Given the description of an element on the screen output the (x, y) to click on. 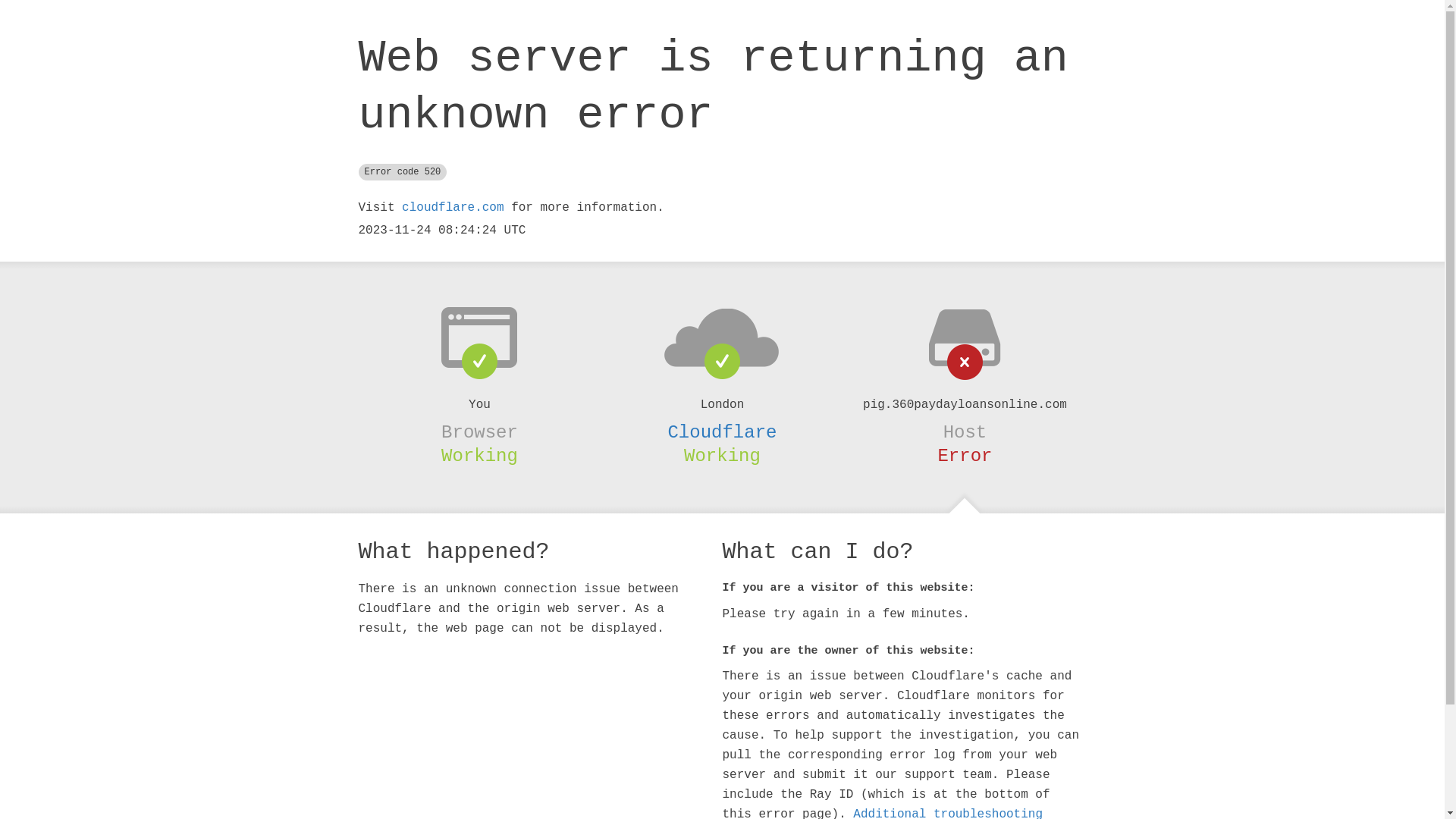
cloudflare.com Element type: text (452, 207)
Cloudflare Element type: text (721, 432)
